Given the description of an element on the screen output the (x, y) to click on. 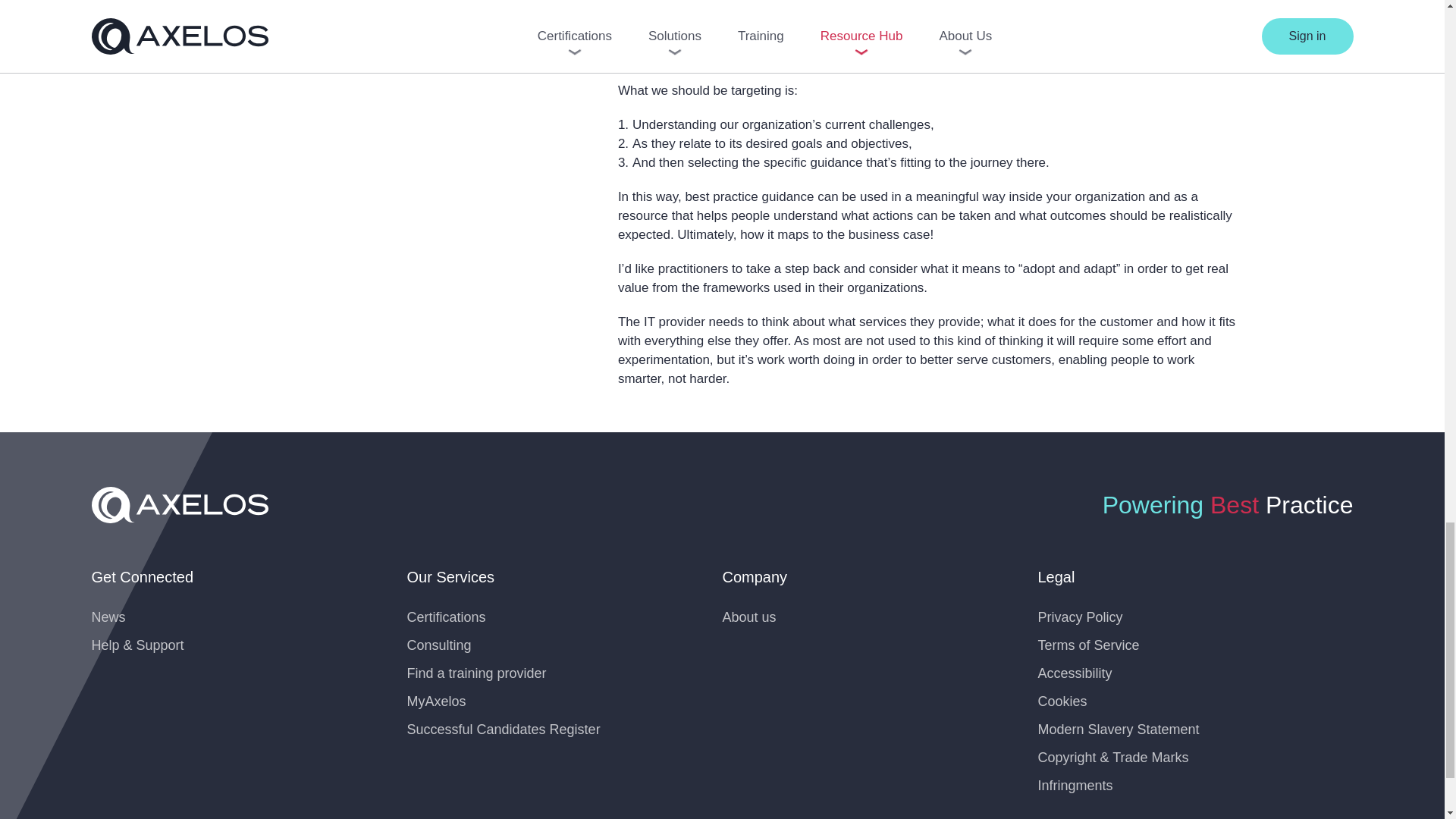
MyAxelos (435, 701)
Modern Slavery Statement (1117, 729)
Certifications (445, 616)
Successful Candidates Register (502, 729)
Cookies (1061, 701)
Consulting (438, 645)
Terms of Service (1087, 645)
Infringments (1074, 785)
About us (749, 616)
Accessibility (1074, 672)
Find a training provider (476, 672)
News (107, 616)
Privacy Policy (1079, 616)
